Given the description of an element on the screen output the (x, y) to click on. 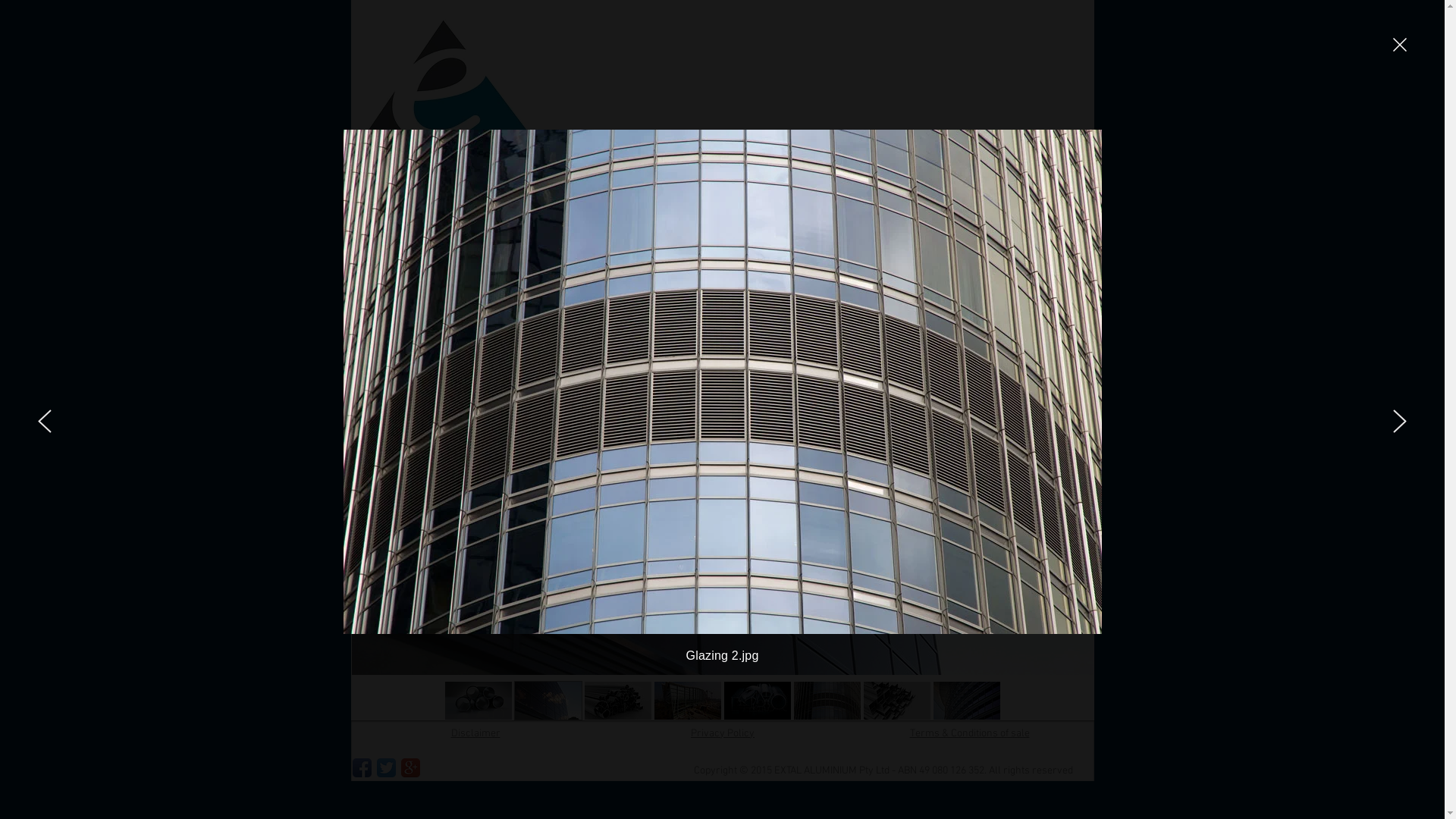
Terms & Conditions of sale Element type: text (969, 732)
ABOUT US Element type: text (504, 199)
SERVICES Element type: text (740, 199)
Privacy Policy Element type: text (722, 732)
PRODUCTS Element type: text (624, 199)
A4 Logo.jpg Element type: hover (446, 90)
HOME Element type: text (398, 199)
Disclaimer Element type: text (474, 732)
CONTACT US Element type: text (859, 199)
BUILDING PRODUCTS Element type: text (1008, 199)
